Given the description of an element on the screen output the (x, y) to click on. 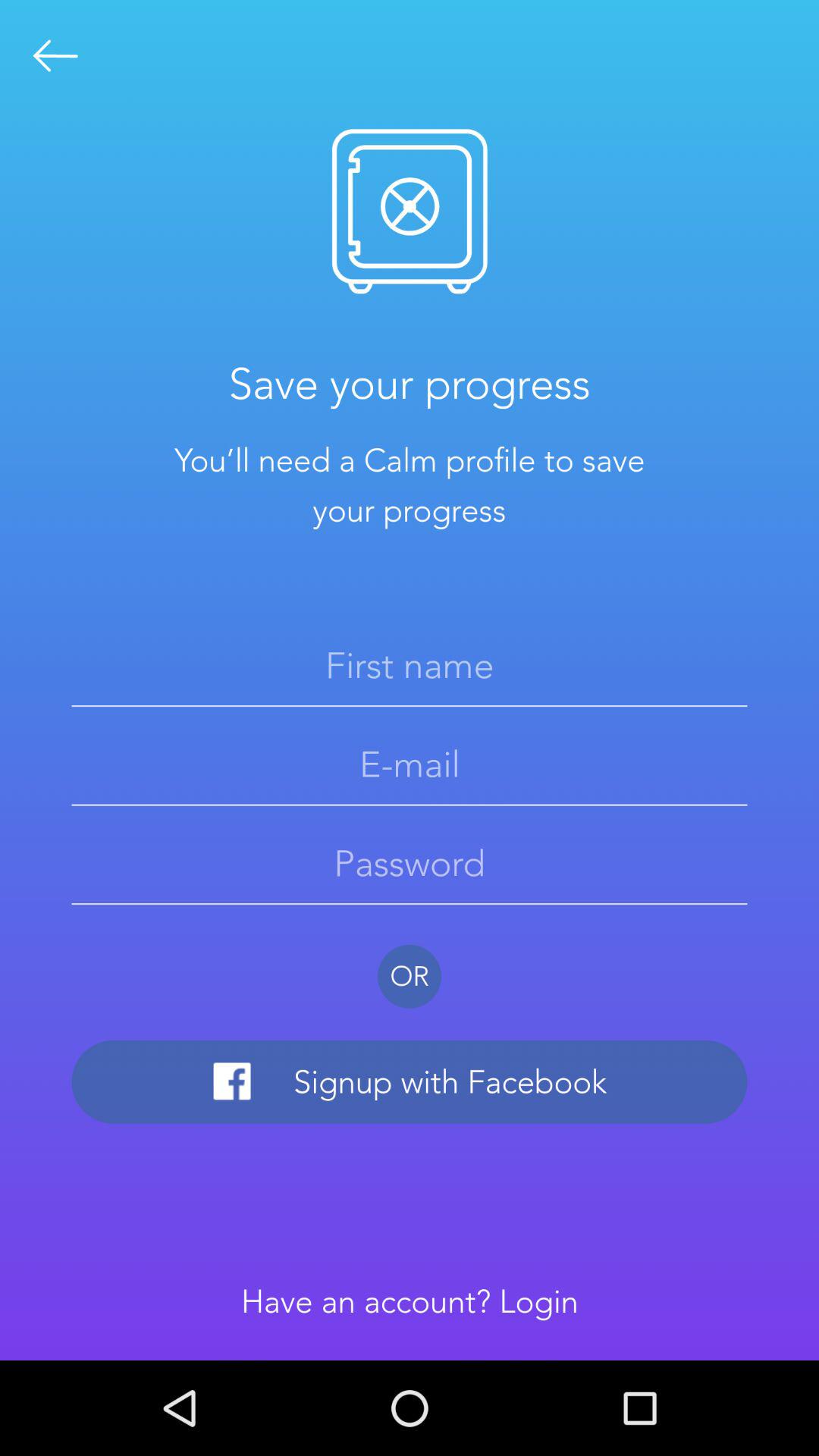
choose have an account item (409, 1301)
